Given the description of an element on the screen output the (x, y) to click on. 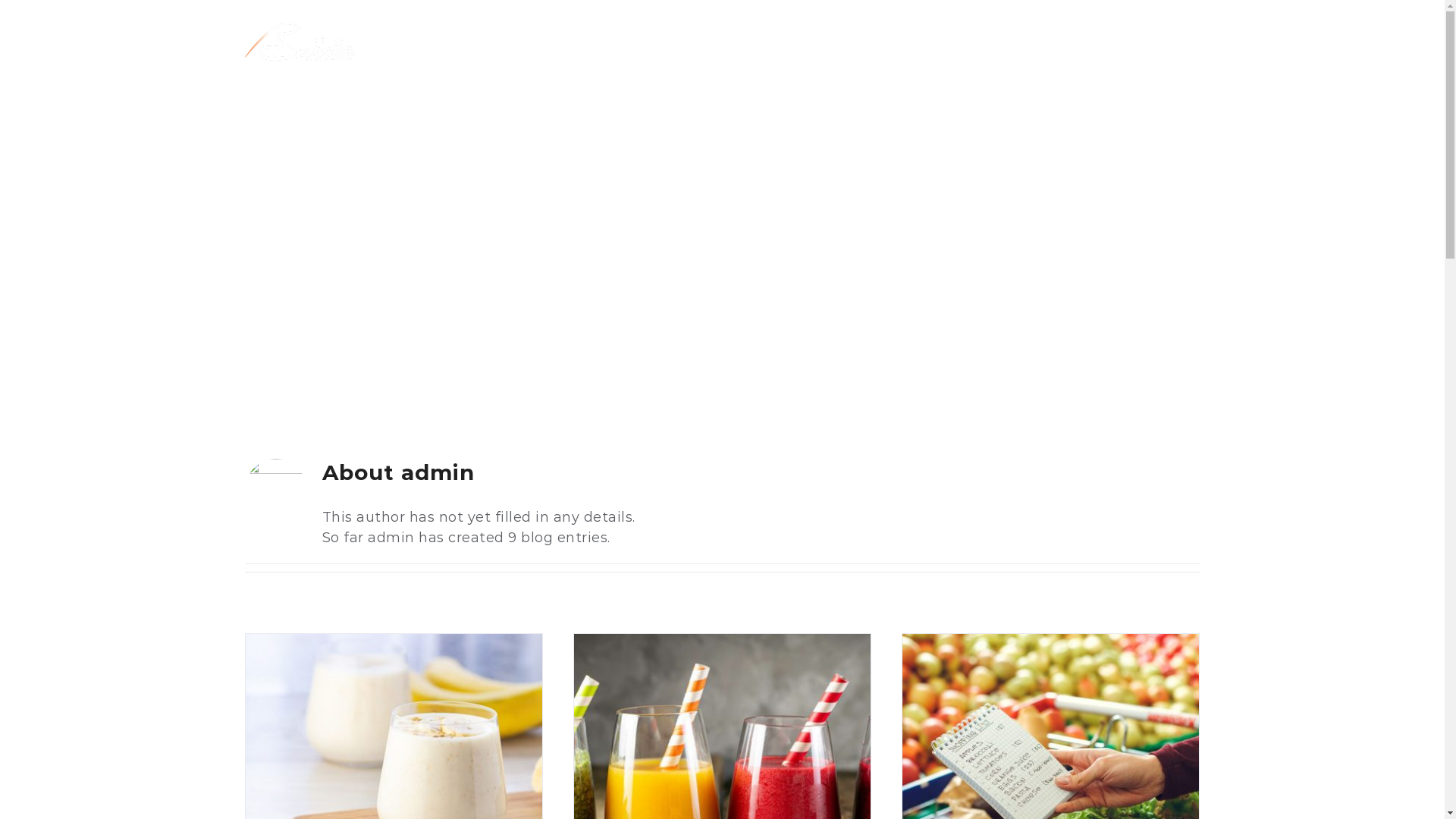
MY ACCOUNT Element type: text (297, 211)
Log In Element type: text (338, 382)
GALLERY Element type: text (972, 126)
CONTACT Element type: text (1092, 126)
SHOP Element type: text (646, 126)
ABOUT US Element type: text (368, 126)
